Given the description of an element on the screen output the (x, y) to click on. 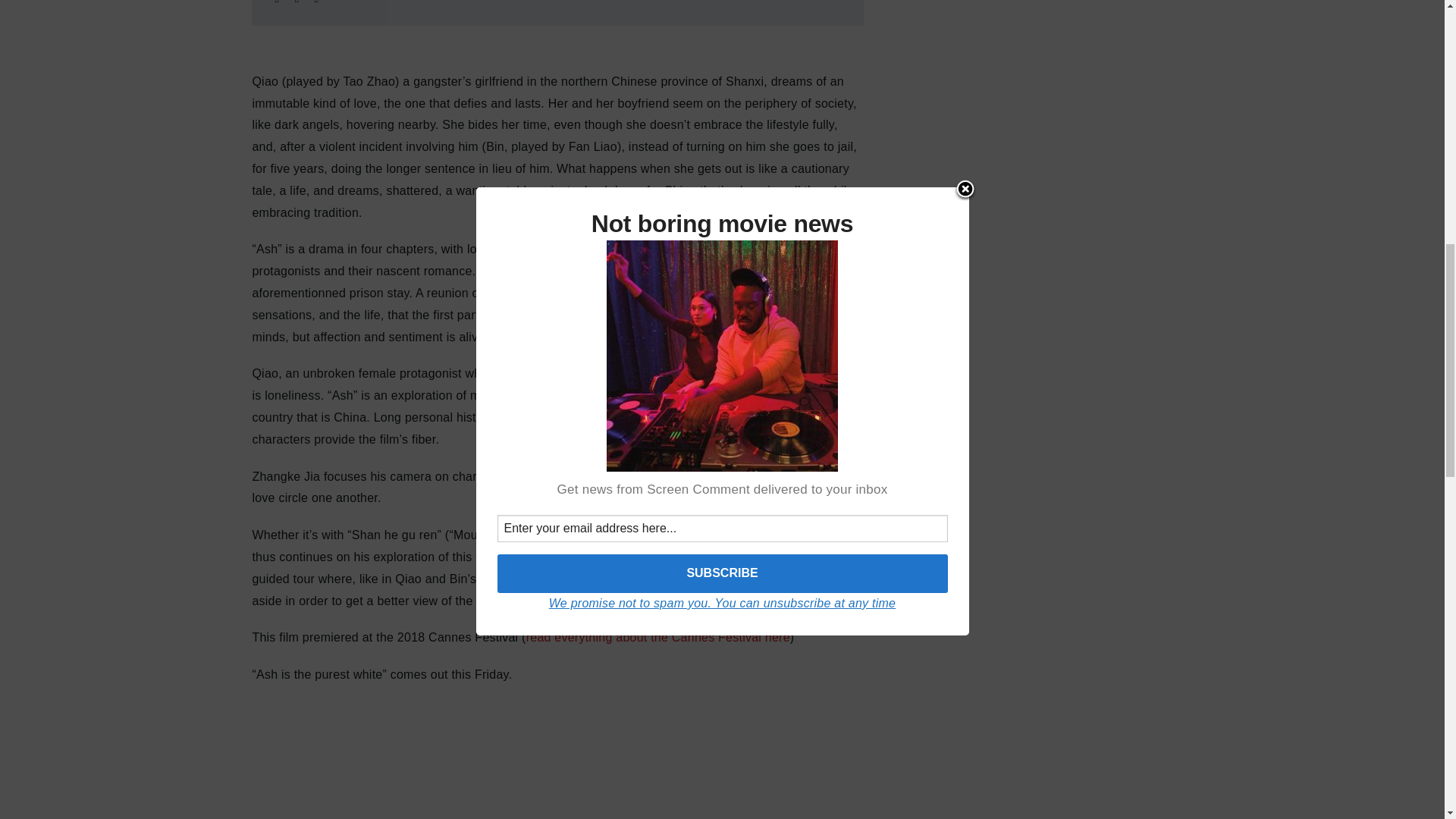
read everything about the Cannes Festival here (657, 636)
